Given the description of an element on the screen output the (x, y) to click on. 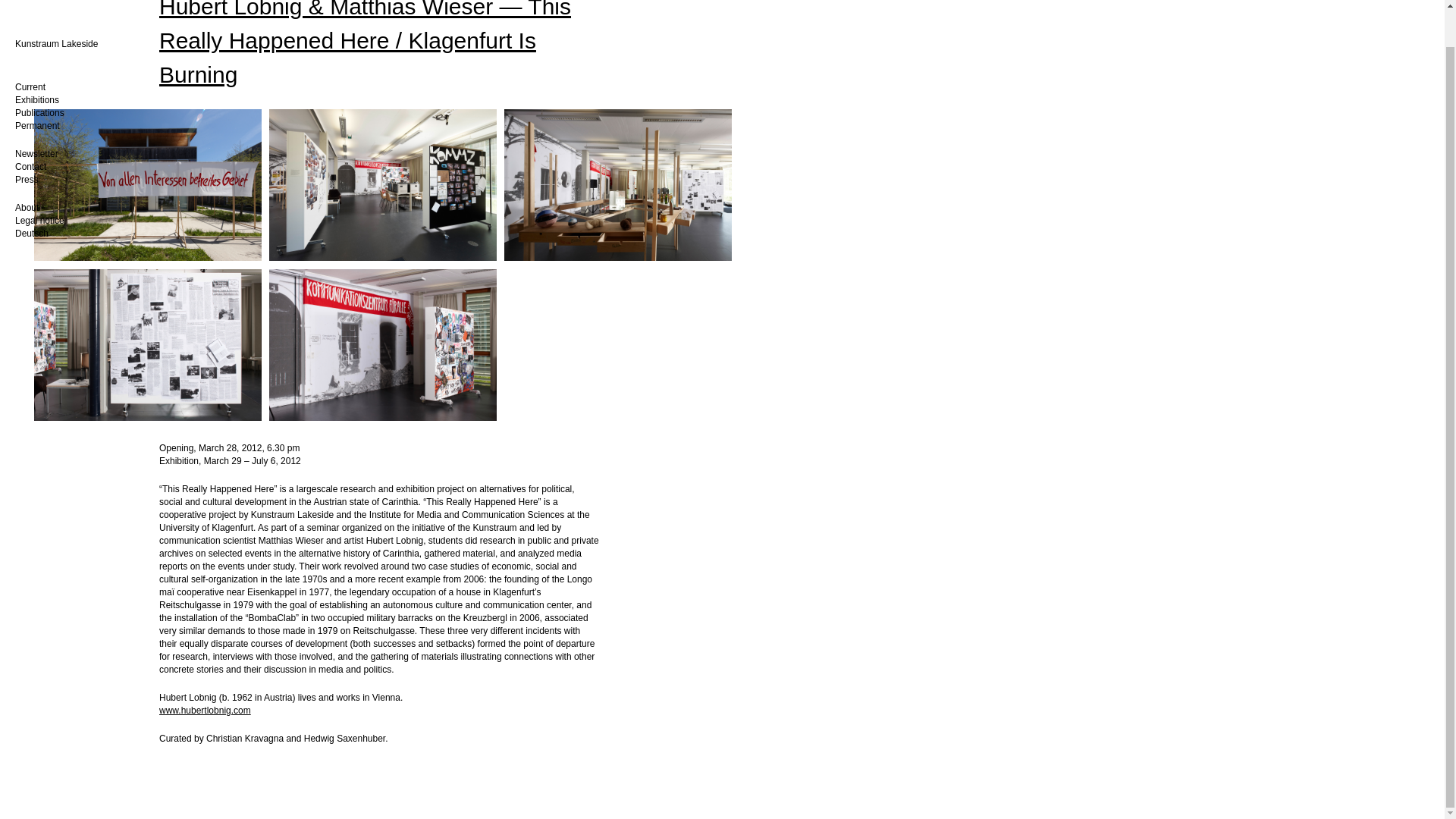
Legal notice (39, 181)
www.hubertlobnig.com (204, 710)
Kunstraum Lakeside (55, 5)
Newsletter (36, 114)
Publications (39, 73)
Contact (30, 127)
Deutsch (31, 194)
Press (26, 140)
Current (29, 48)
Exhibitions (36, 61)
